Given the description of an element on the screen output the (x, y) to click on. 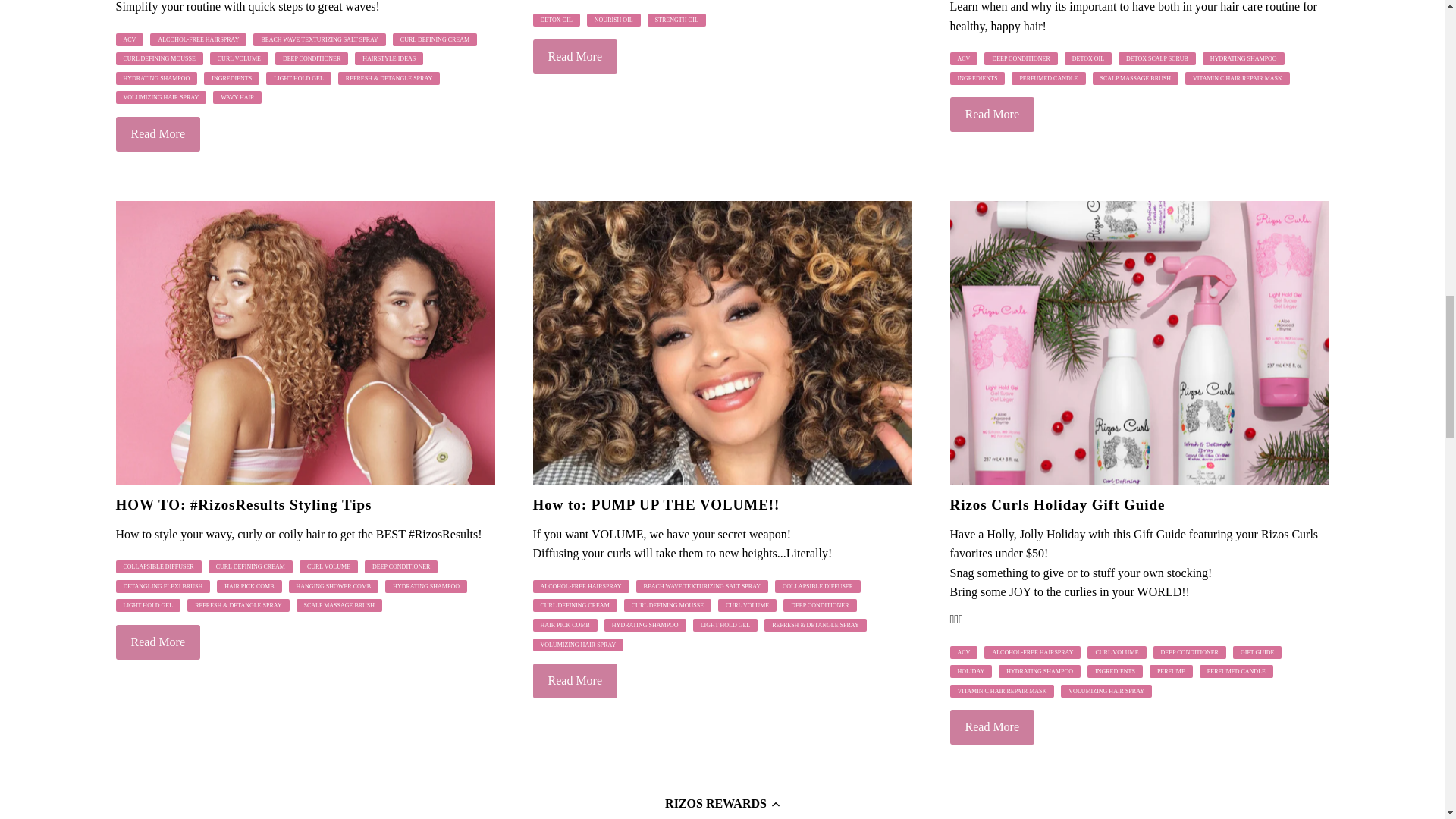
Rizos Curls Holiday Gift Guide (1138, 342)
How to: Rizos Reset! Let's CLARIFY! (721, 806)
How to: PUMP UP THE VOLUME!! (721, 342)
VIP Box Best of 2023 (1138, 806)
Rizos Curls is for Men with Curly Hair (305, 806)
